Given the description of an element on the screen output the (x, y) to click on. 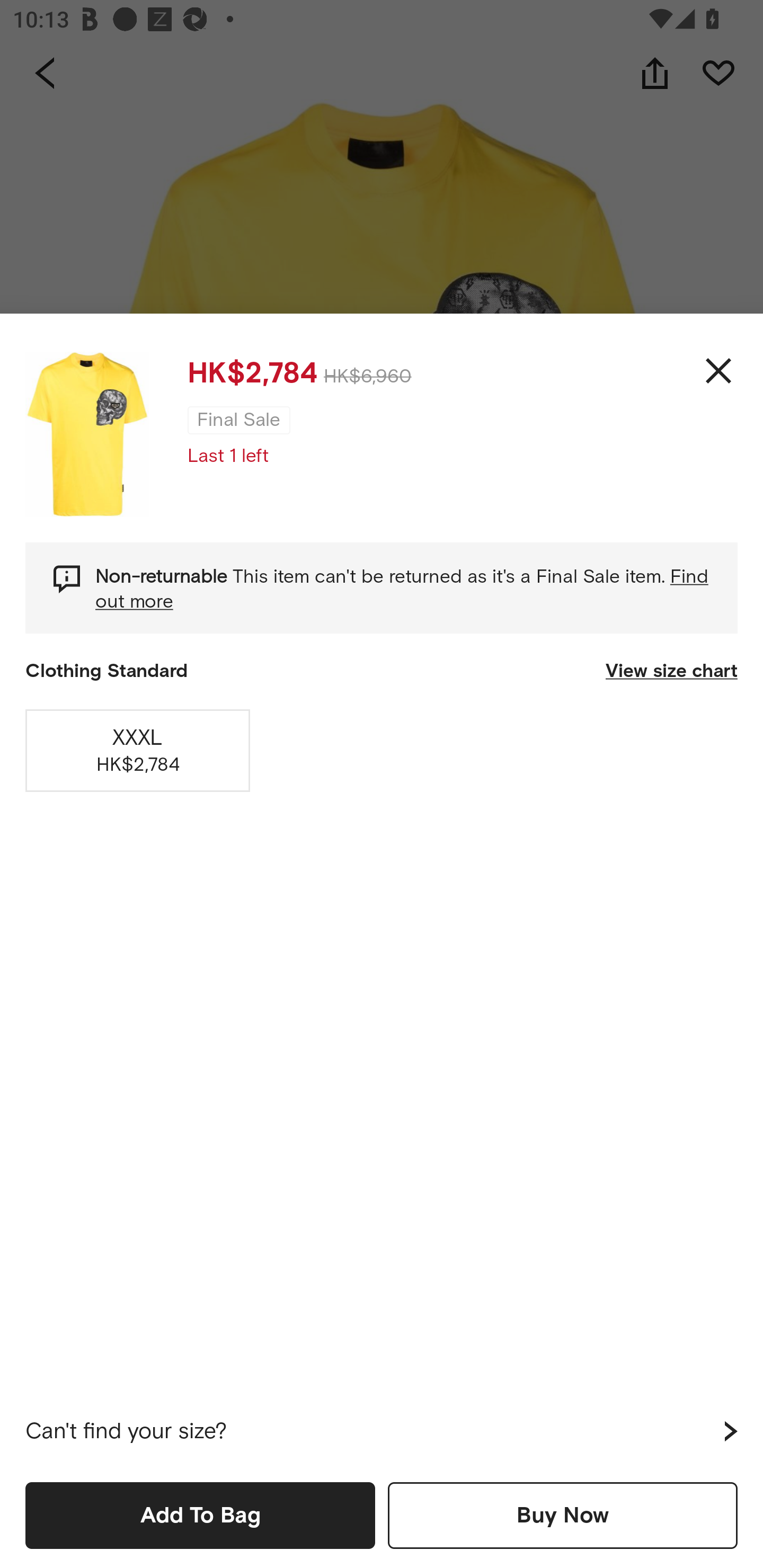
XXXL HK$2,784 (137, 749)
Can't find your size? (381, 1431)
Add To Bag (200, 1515)
Buy Now (562, 1515)
